Given the description of an element on the screen output the (x, y) to click on. 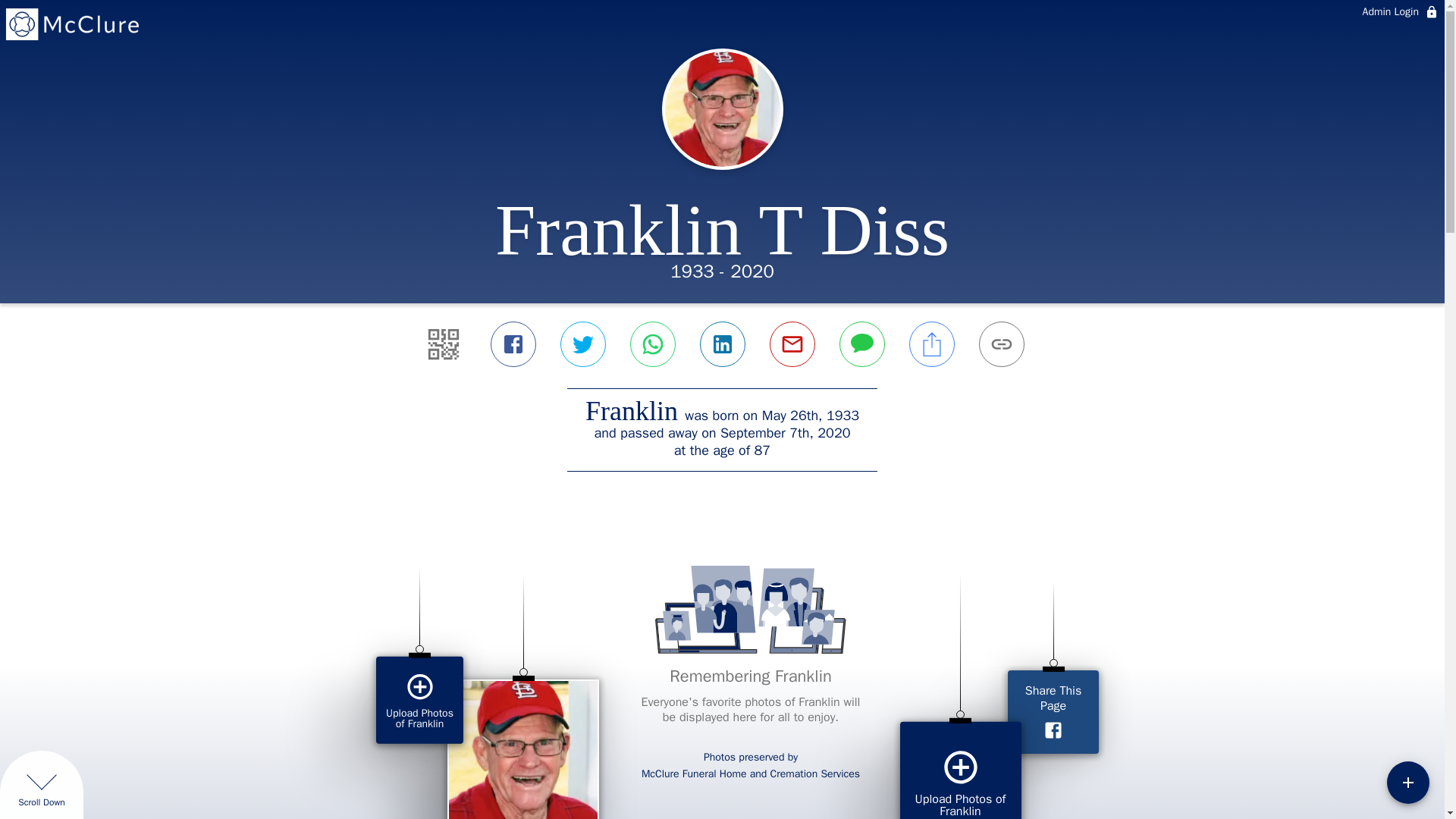
Upload Photos of Franklin (959, 770)
Share This Page (1053, 711)
Upload Photos of Franklin (419, 699)
